Given the description of an element on the screen output the (x, y) to click on. 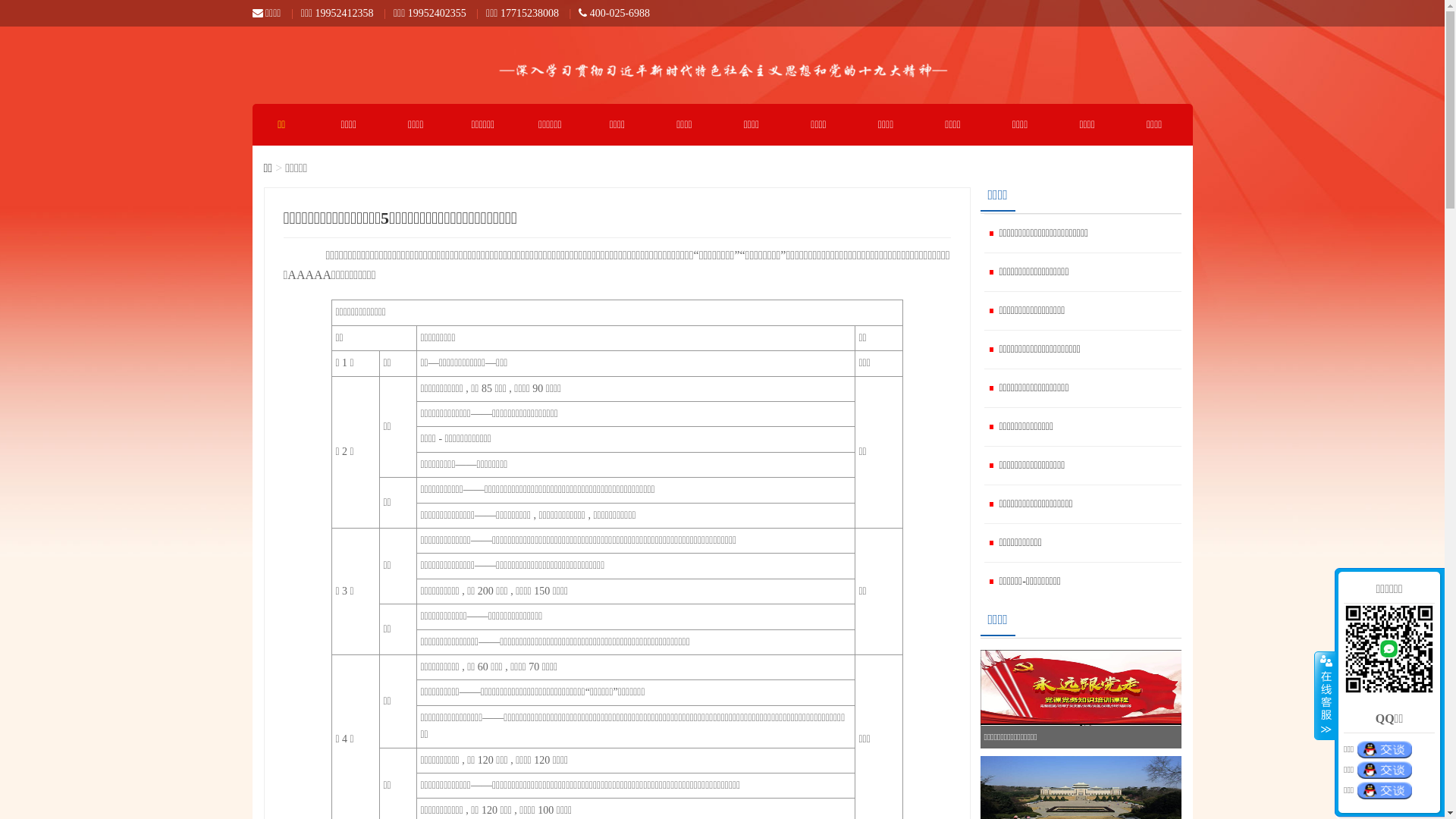
400-025-6988 Element type: text (613, 12)
